Given the description of an element on the screen output the (x, y) to click on. 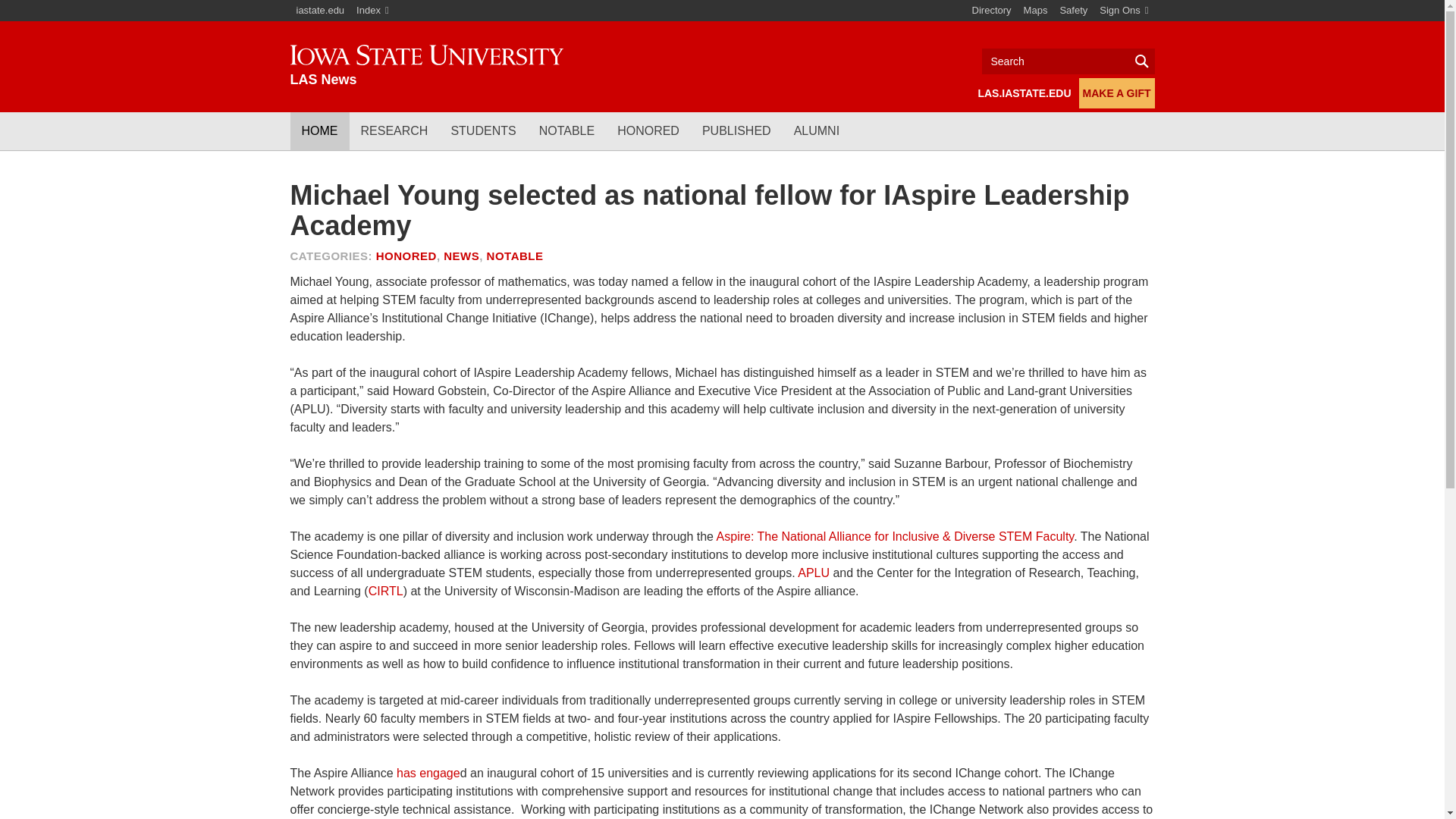
Index (372, 10)
Home (425, 66)
Search (1067, 61)
Directory (991, 10)
iastate.edu (319, 10)
Maps (1035, 10)
Sign Ons (1123, 10)
Safety (1072, 10)
